Given the description of an element on the screen output the (x, y) to click on. 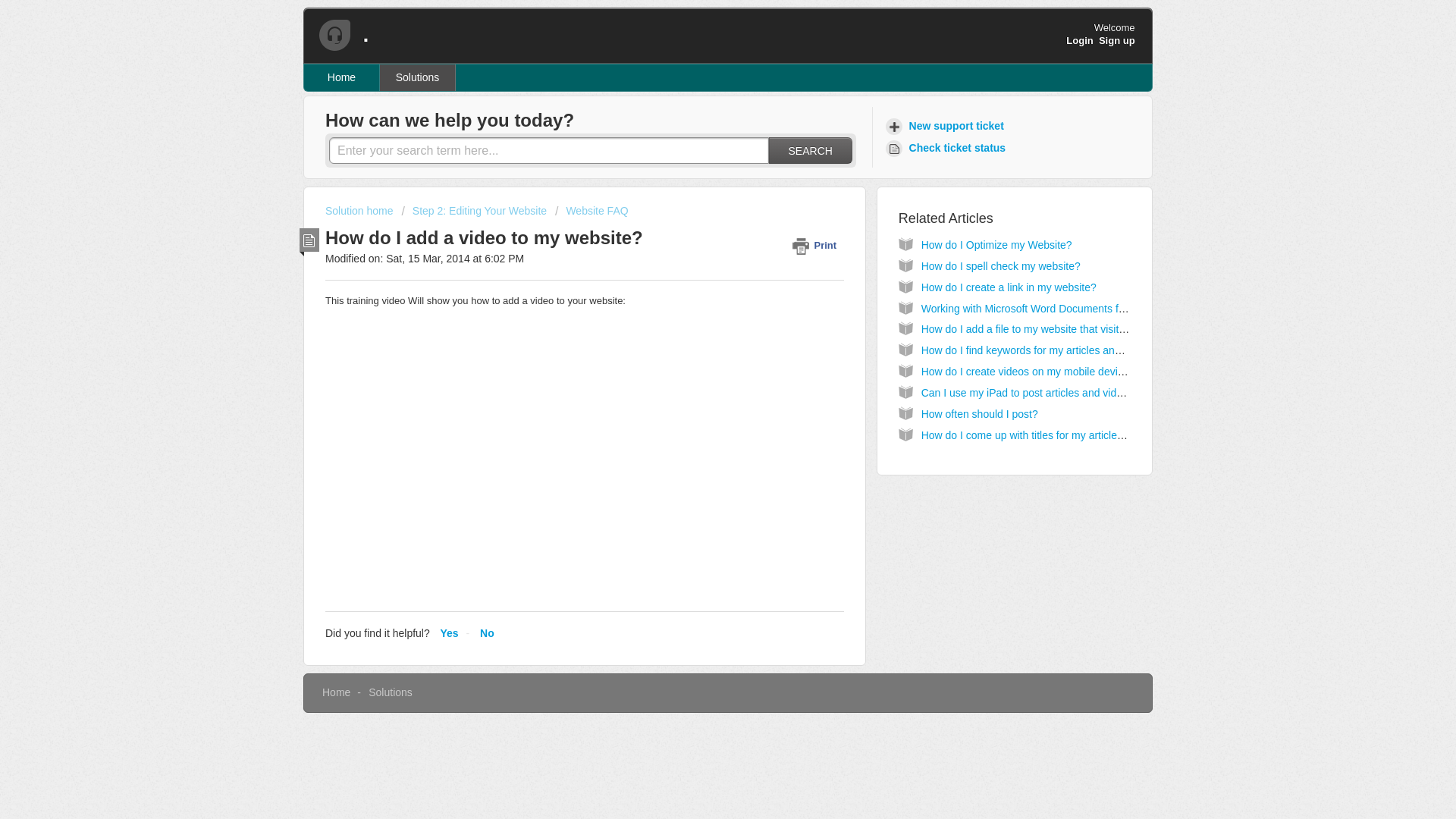
How often should I post? (979, 413)
Step 2: Editing Your Website (474, 210)
How do I create a link in my website? (1008, 287)
Working with Microsoft Word Documents files for your website (1066, 308)
Solutions (390, 692)
How do I spell check my website? (1000, 265)
Login (1079, 40)
Check ticket status (947, 147)
Print (818, 244)
Print this Article (818, 244)
How do I find keywords for my articles and videos? (1040, 349)
How do I come up with titles for my articles and videos? (1051, 435)
New support ticket (946, 126)
New support ticket (946, 126)
Home (342, 77)
